Given the description of an element on the screen output the (x, y) to click on. 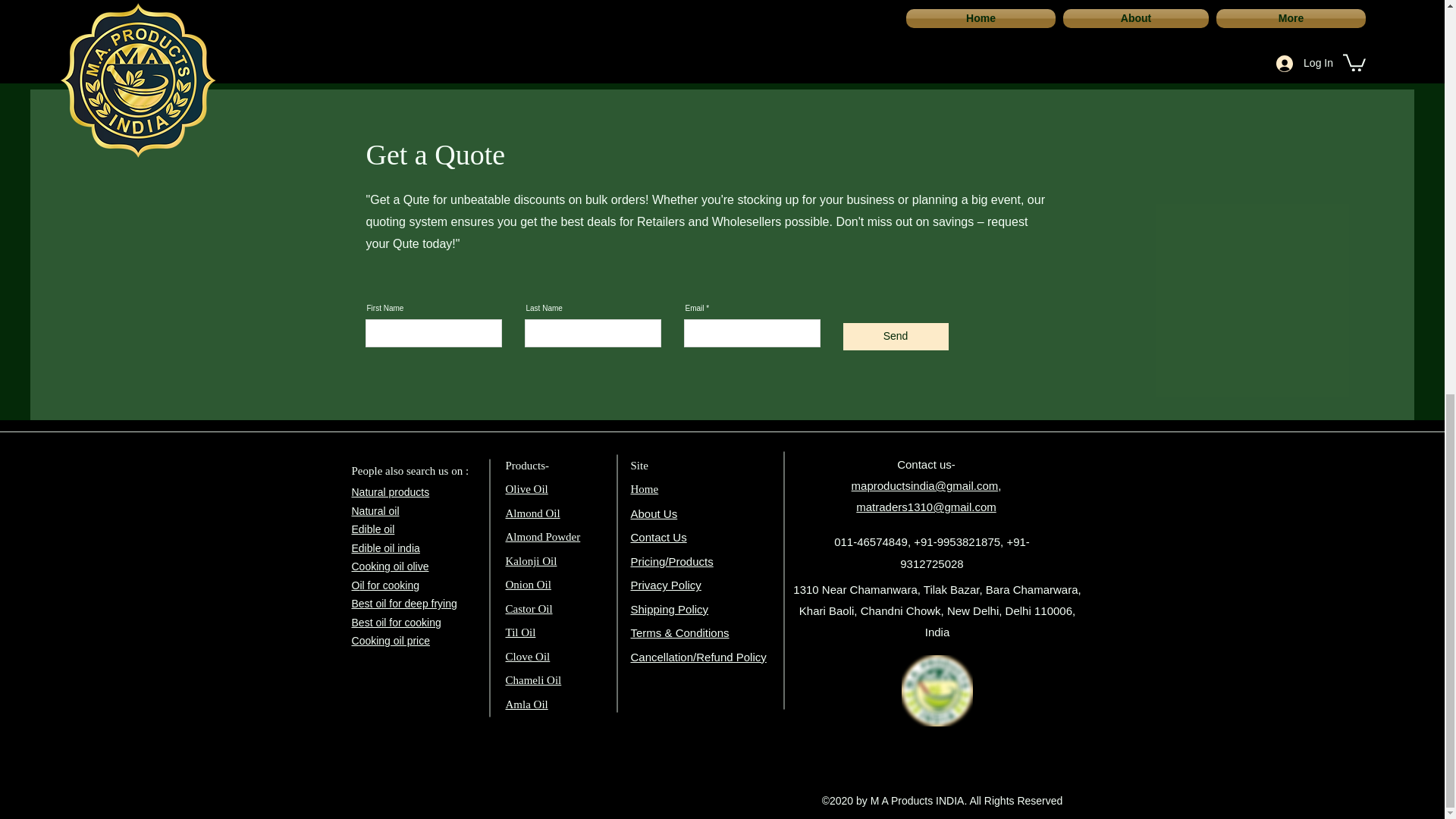
Cooking oil olive (390, 566)
Edible oil (373, 529)
Natural oil (375, 510)
il for cooking (389, 585)
Almond Powder (542, 536)
est oil for cooking (399, 622)
Send (896, 336)
ooking oil price (394, 640)
Almond Oil (532, 512)
Natural products (390, 491)
Olive Oil (526, 489)
Edible oil india (386, 548)
